Given the description of an element on the screen output the (x, y) to click on. 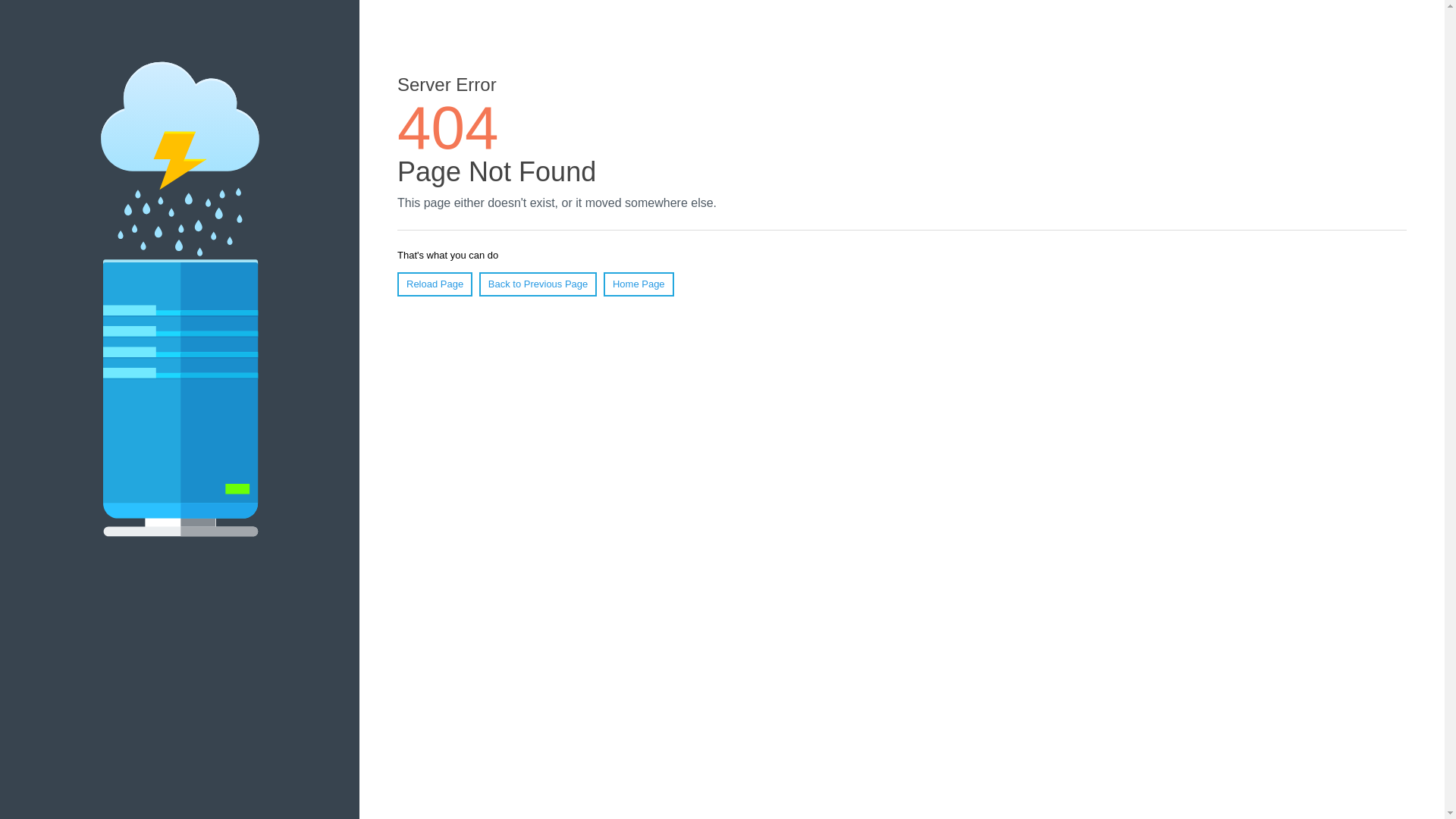
Back to Previous Page Element type: text (538, 284)
Reload Page Element type: text (434, 284)
Home Page Element type: text (638, 284)
